Given the description of an element on the screen output the (x, y) to click on. 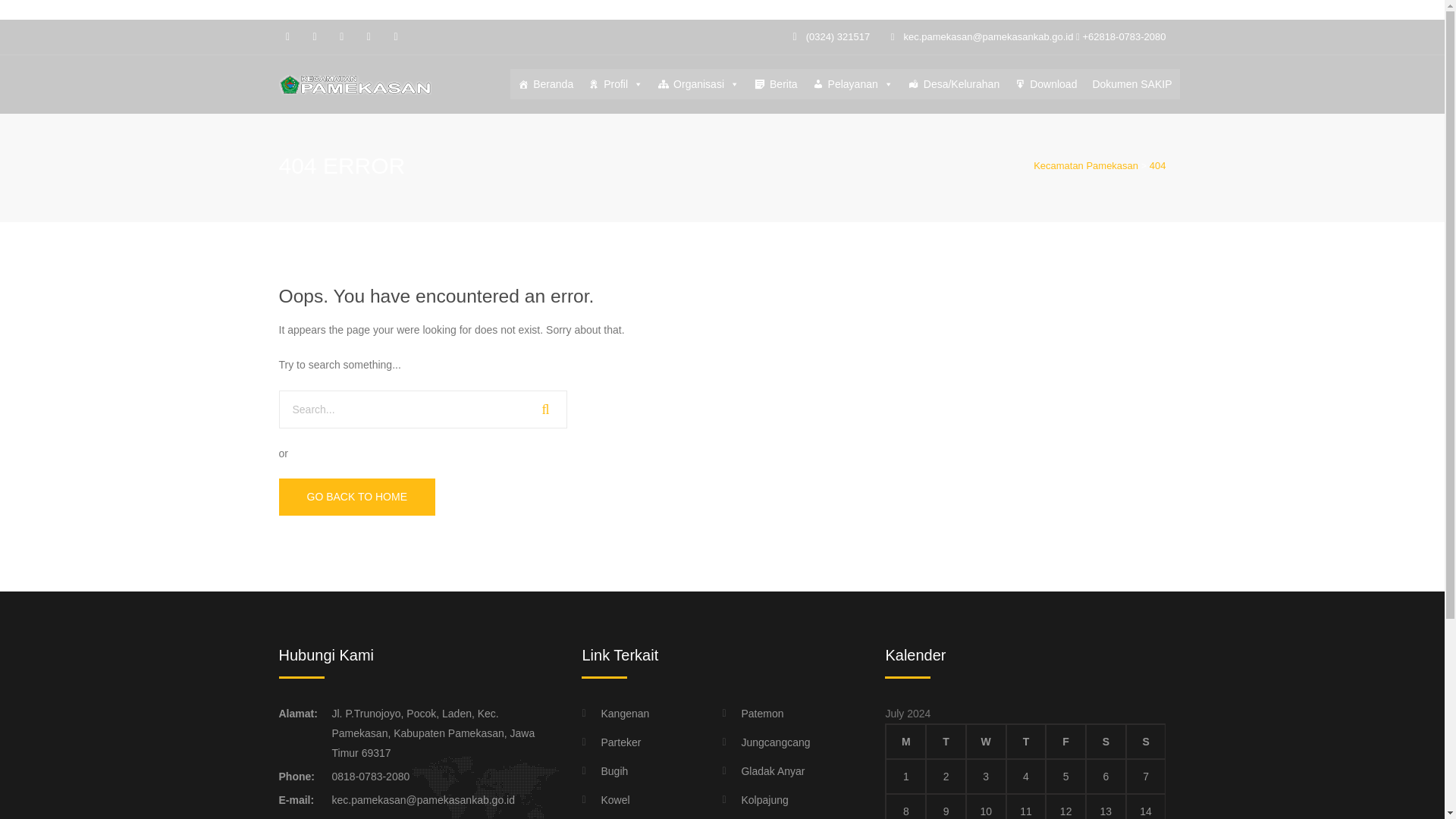
Dokumen SAKIP (1131, 83)
404 (1158, 165)
Gladak Anyar (763, 771)
Kangenan (614, 713)
Go to Kecamatan Pamekasan. (1085, 165)
Tuesday (946, 741)
Sunday (1145, 741)
Profil (615, 83)
Friday (1065, 741)
Bugih (603, 771)
Go to 404. (1158, 165)
Saturday (1105, 741)
GO BACK TO HOME (357, 496)
Organisasi (698, 83)
Berita (775, 83)
